Given the description of an element on the screen output the (x, y) to click on. 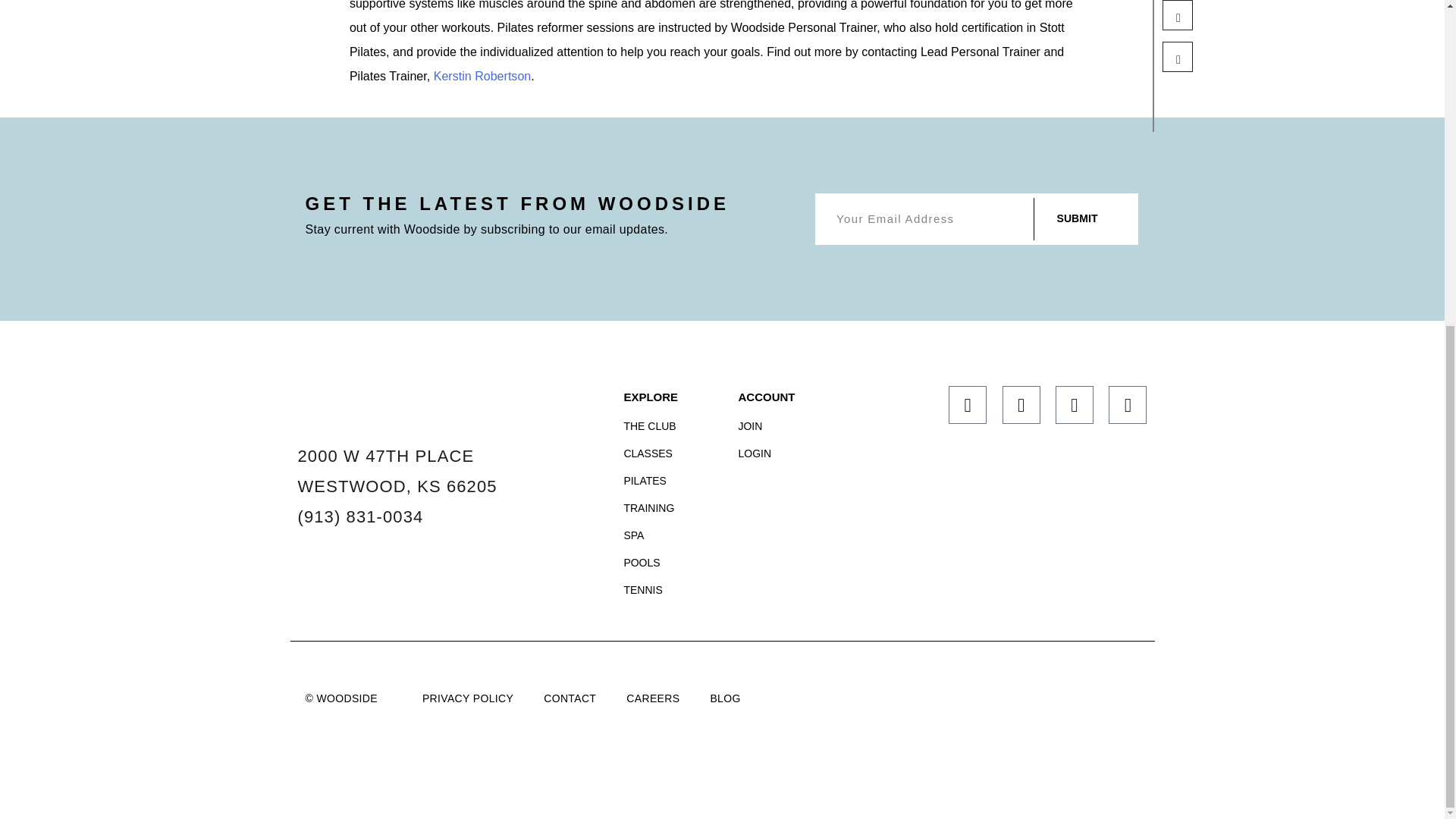
SUBMIT (1077, 219)
